Given the description of an element on the screen output the (x, y) to click on. 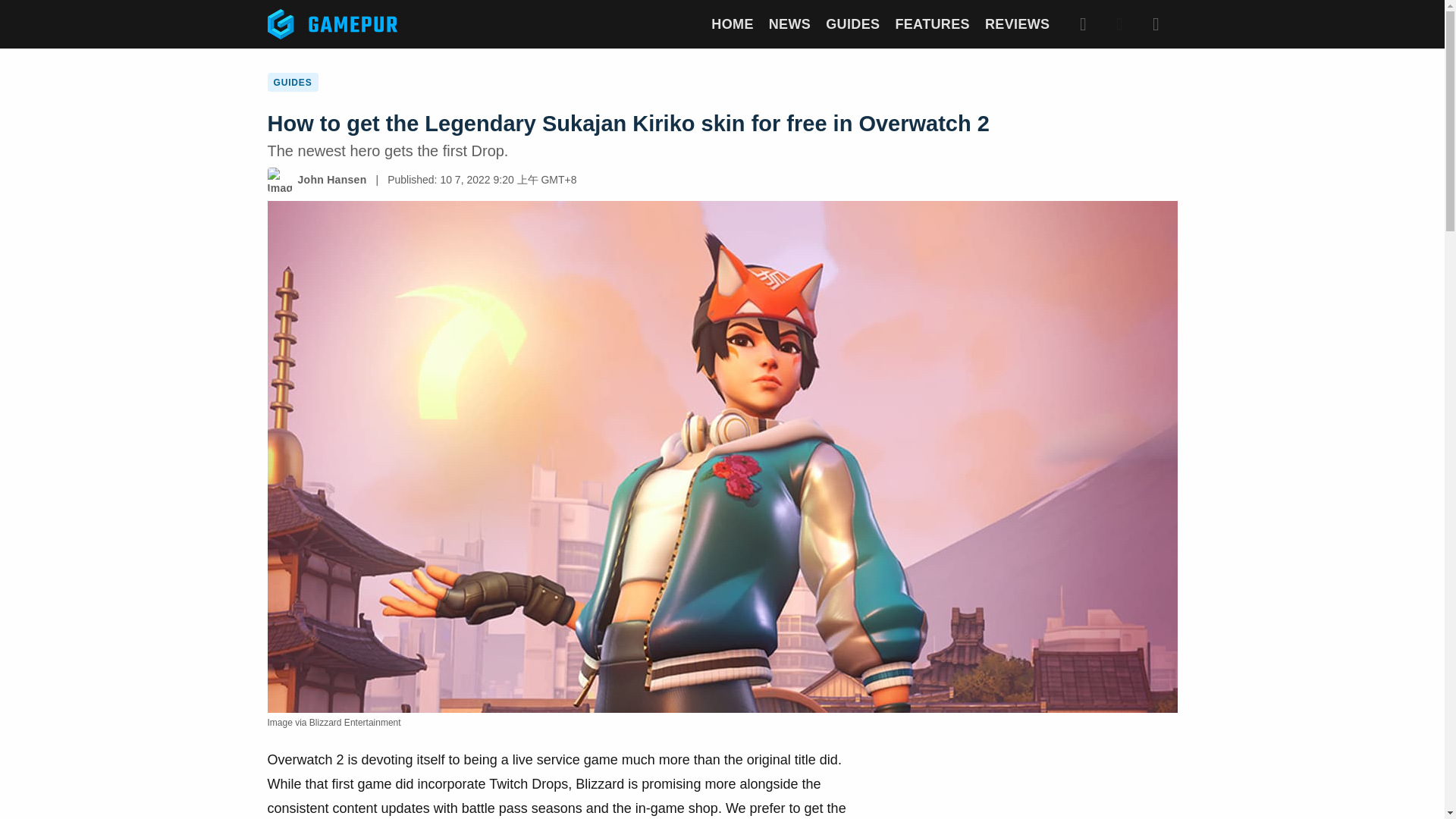
Expand Menu (1155, 24)
REVIEWS (1017, 23)
GUIDES (852, 23)
HOME (731, 23)
Dark Mode (1118, 24)
Search (1082, 24)
FEATURES (932, 23)
NEWS (789, 23)
